Given the description of an element on the screen output the (x, y) to click on. 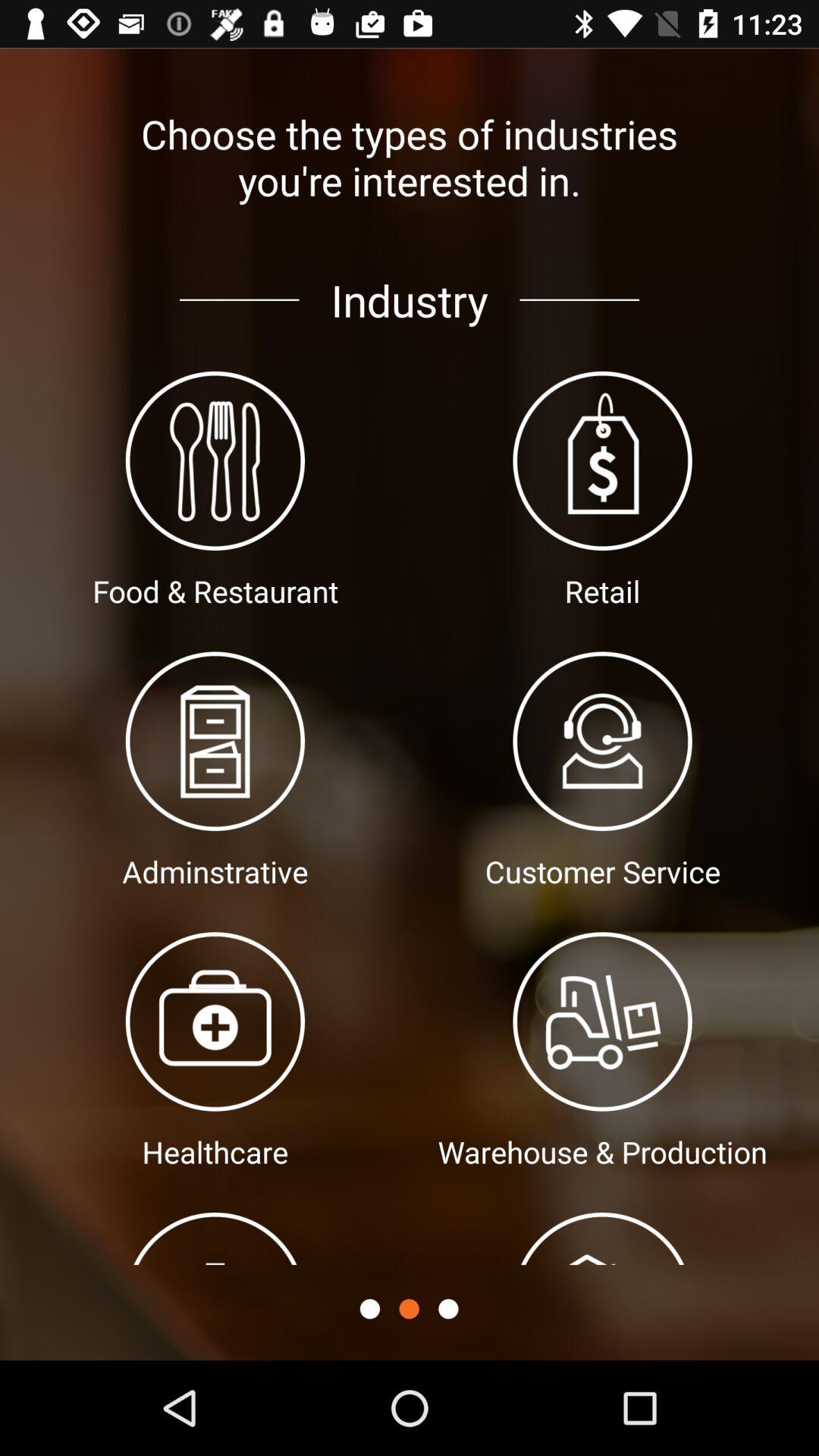
swipe left (448, 1308)
